Given the description of an element on the screen output the (x, y) to click on. 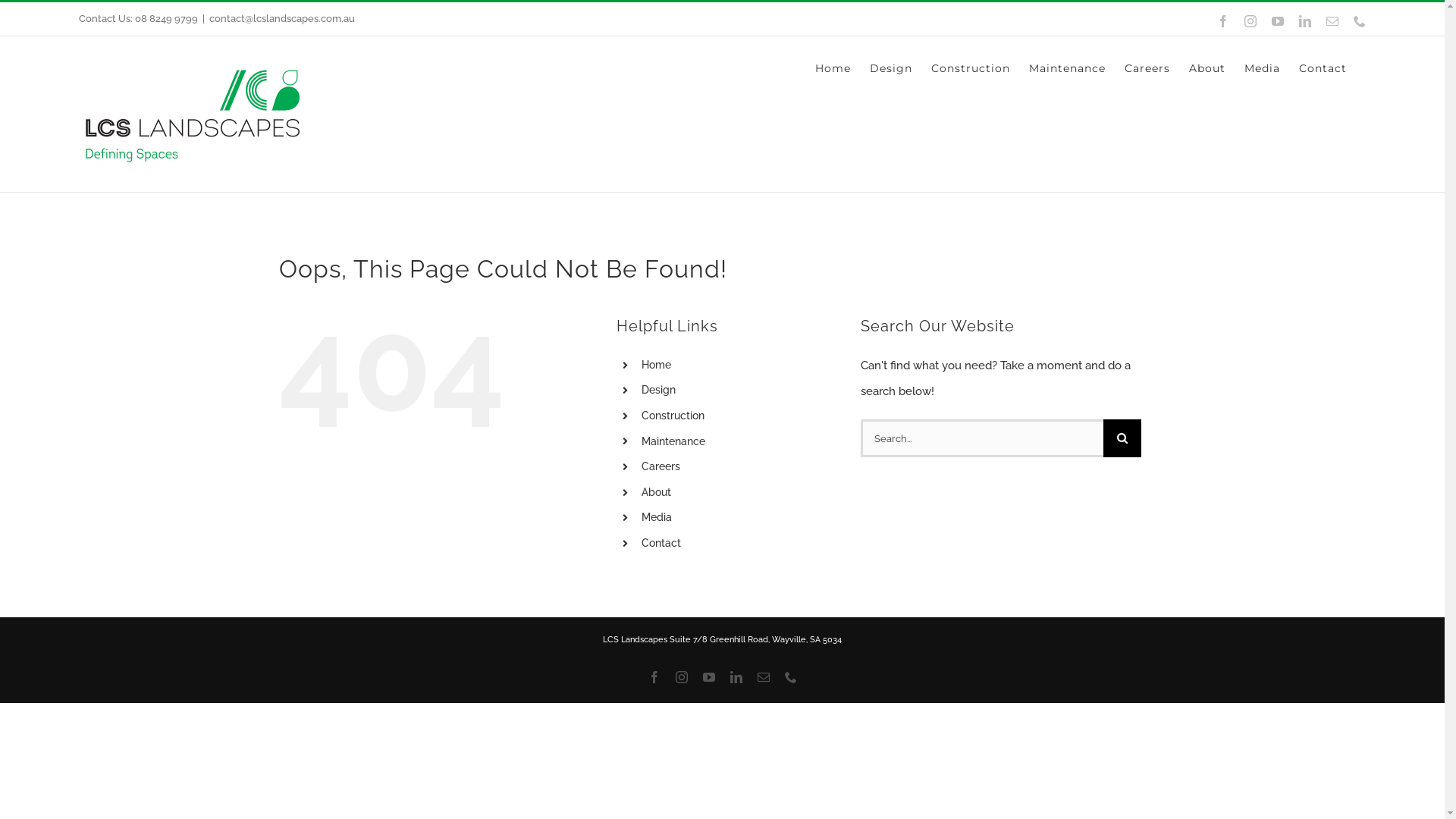
Construction Element type: text (672, 415)
Maintenance Element type: text (673, 441)
Careers Element type: text (660, 466)
About Element type: text (1207, 68)
Phone Element type: text (790, 676)
Facebook Element type: text (653, 676)
Home Element type: text (656, 364)
Instagram Element type: text (1250, 21)
Contact Element type: text (1322, 68)
Contact Element type: text (660, 542)
YouTube Element type: text (708, 676)
Design Element type: text (658, 389)
Maintenance Element type: text (1067, 68)
Media Element type: text (1262, 68)
Phone Element type: text (1359, 21)
Design Element type: text (890, 68)
LinkedIn Element type: text (735, 676)
contact@lcslandscapes.com.au Element type: text (281, 18)
YouTube Element type: text (1277, 21)
Construction Element type: text (970, 68)
Email Element type: text (1332, 21)
Instagram Element type: text (680, 676)
About Element type: text (656, 492)
Facebook Element type: text (1223, 21)
Home Element type: text (832, 68)
Media Element type: text (656, 517)
LinkedIn Element type: text (1305, 21)
Careers Element type: text (1147, 68)
Email Element type: text (762, 676)
